Given the description of an element on the screen output the (x, y) to click on. 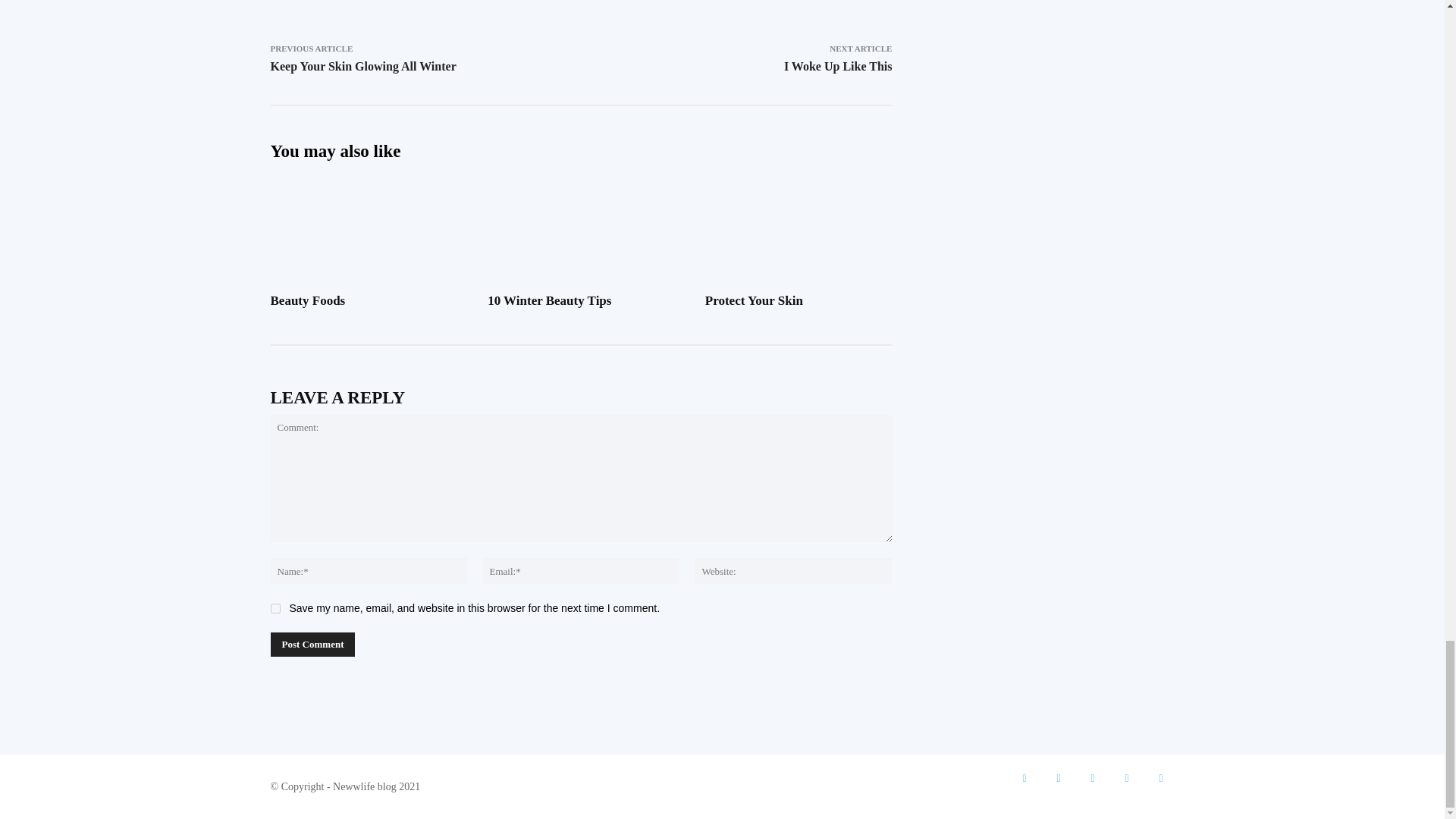
Keep Your Skin Glowing All Winter (362, 65)
yes (274, 608)
I Woke Up Like This (838, 65)
10 Winter Beauty Tips (549, 300)
Post Comment (312, 644)
Beauty Foods (307, 300)
